Given the description of an element on the screen output the (x, y) to click on. 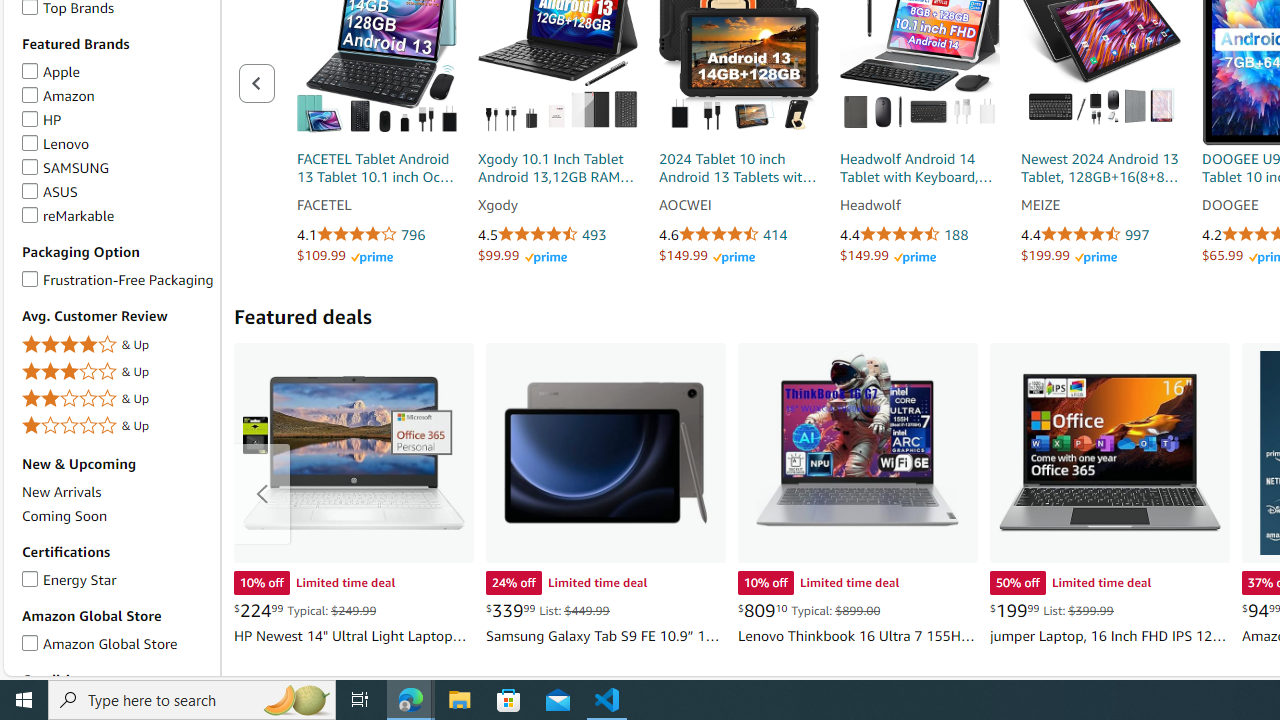
LenovoLenovo (117, 143)
Amazon (29, 92)
Frustration-Free Packaging Frustration-Free Packaging (117, 278)
reMarkable reMarkable (68, 214)
2 Stars & Up& Up (117, 399)
4.6 out of 5 stars 414 ratings (739, 235)
HP (29, 115)
Xgody (557, 205)
Coming Soon (117, 516)
Frustration-Free PackagingFrustration-Free Packaging (117, 280)
Amazon Prime (1096, 257)
ASUSASUS (117, 192)
4.4 out of 5 stars 188 ratings (919, 235)
FACETEL (376, 205)
